Given the description of an element on the screen output the (x, y) to click on. 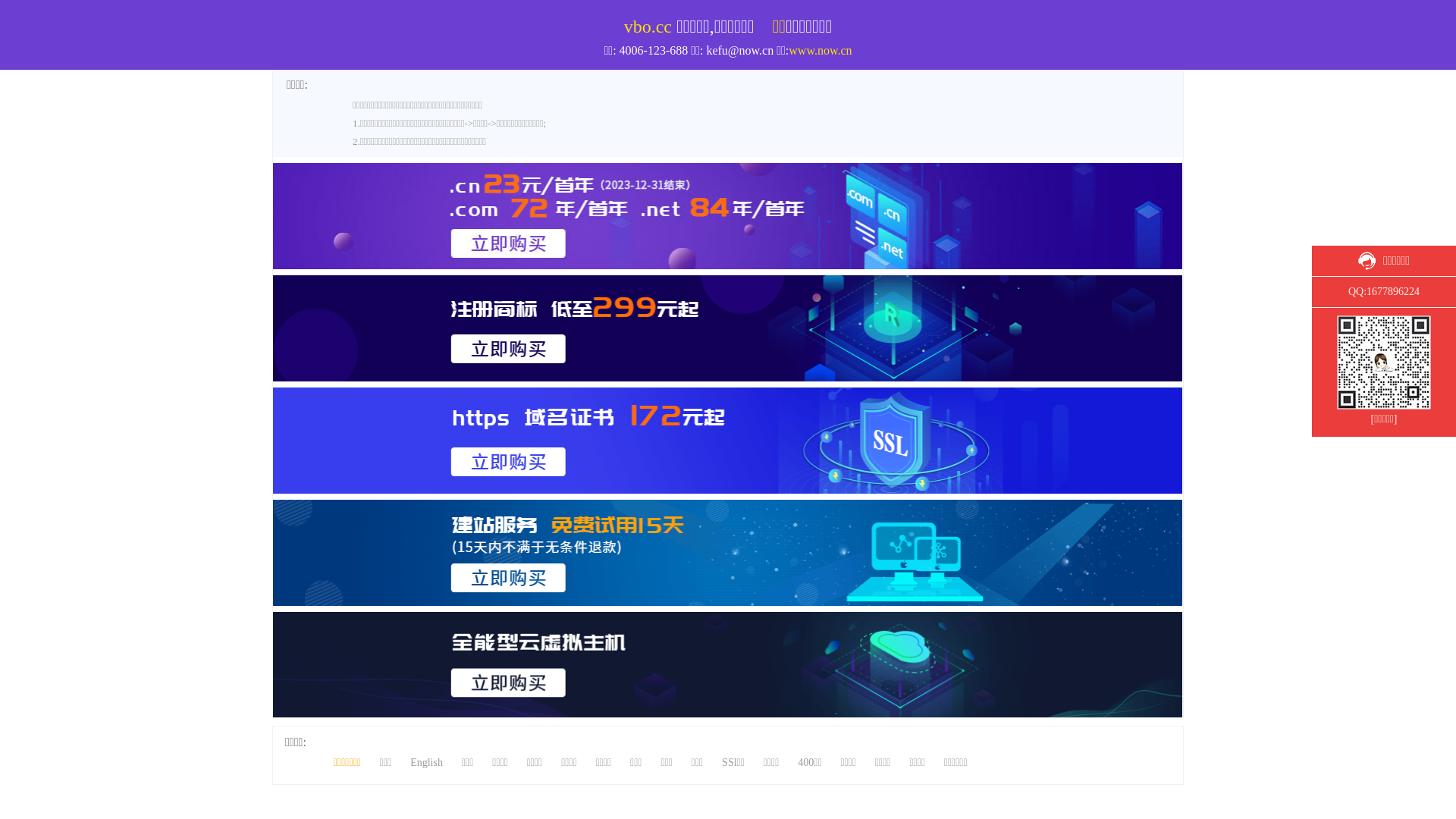
English Element type: text (1323, 6)
www.now.cn Element type: text (819, 49)
English Element type: text (426, 762)
